Given the description of an element on the screen output the (x, y) to click on. 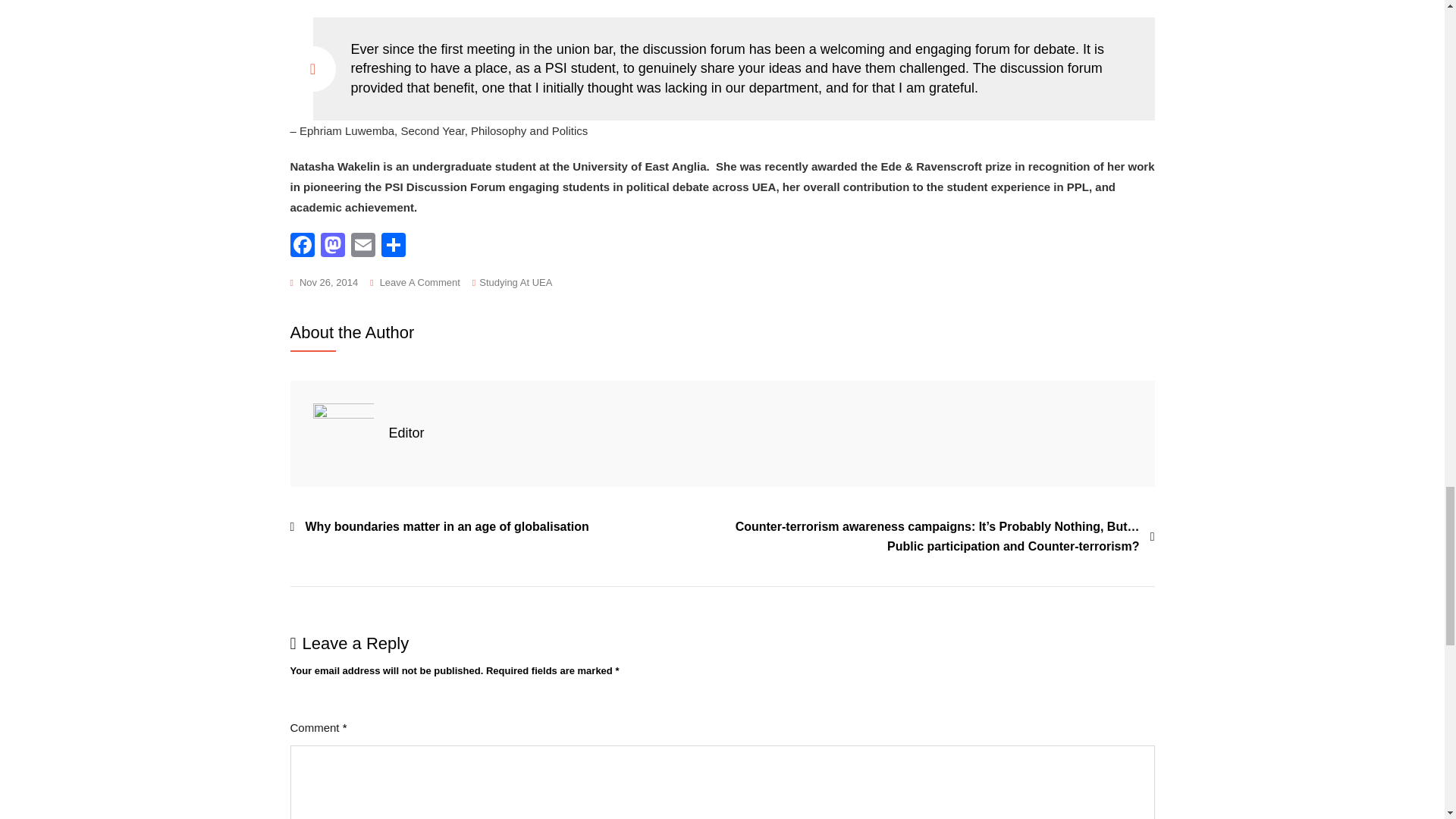
Email (362, 246)
Mastodon (332, 246)
Facebook (301, 246)
